Given the description of an element on the screen output the (x, y) to click on. 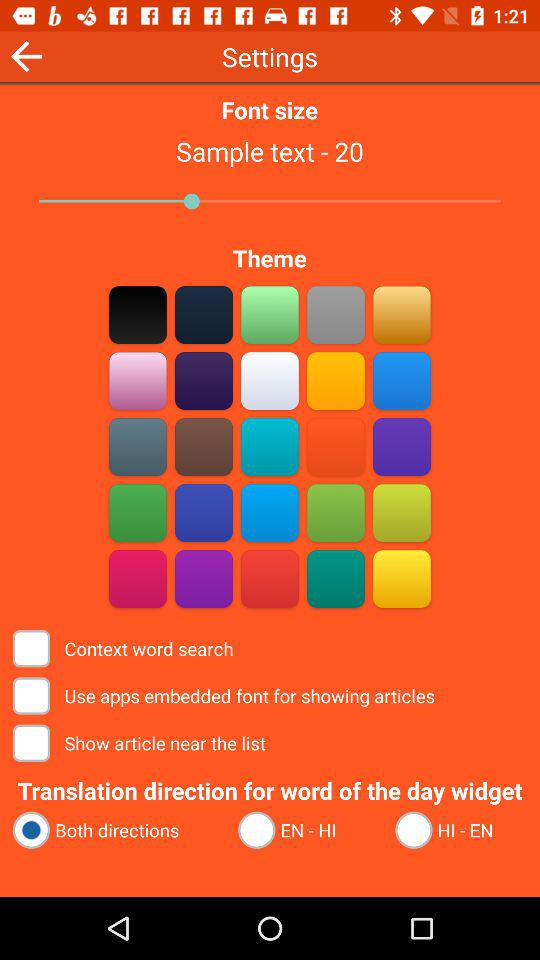
choose the radio button to the left of en - hi icon (116, 829)
